Given the description of an element on the screen output the (x, y) to click on. 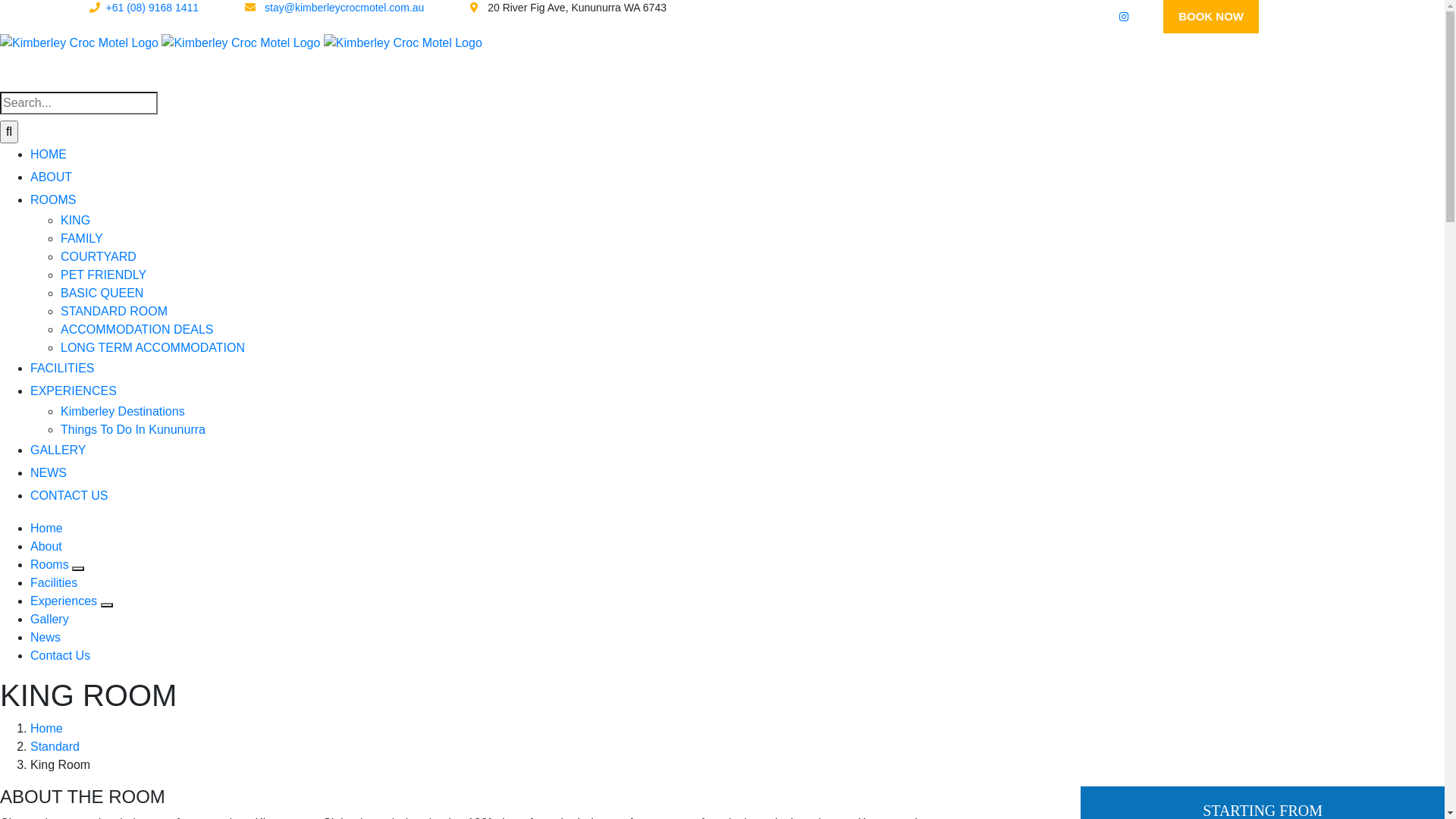
GALLERY Element type: text (58, 450)
BOOK NOW Element type: text (1210, 16)
Kimberley Destinations Element type: text (122, 410)
Experiences Element type: text (65, 600)
FACILITIES Element type: text (62, 368)
ROOMS Element type: text (52, 200)
FAMILY Element type: text (81, 238)
+61 (08) 9168 1411 Element type: text (144, 7)
BASIC QUEEN Element type: text (101, 292)
ACCOMMODATION DEALS Element type: text (136, 329)
Instagram Element type: text (1123, 16)
KING Element type: text (75, 219)
stay@kimberleycrocmotel.com.au Element type: text (333, 7)
Facilities Element type: text (53, 582)
Rooms Element type: text (51, 564)
HOME Element type: text (48, 154)
CONTACT US Element type: text (69, 495)
LONG TERM ACCOMMODATION Element type: text (152, 347)
PET FRIENDLY Element type: text (103, 274)
NEWS Element type: text (48, 473)
COURTYARD Element type: text (98, 256)
Gallery Element type: text (49, 618)
ABOUT Element type: text (51, 177)
About Element type: text (46, 545)
Home Element type: text (46, 727)
News Element type: text (45, 636)
Home Element type: text (46, 527)
Standard Element type: text (54, 746)
Things To Do In Kununurra Element type: text (132, 429)
EXPERIENCES Element type: text (73, 391)
Contact Us Element type: text (60, 655)
STANDARD ROOM Element type: text (113, 310)
